Given the description of an element on the screen output the (x, y) to click on. 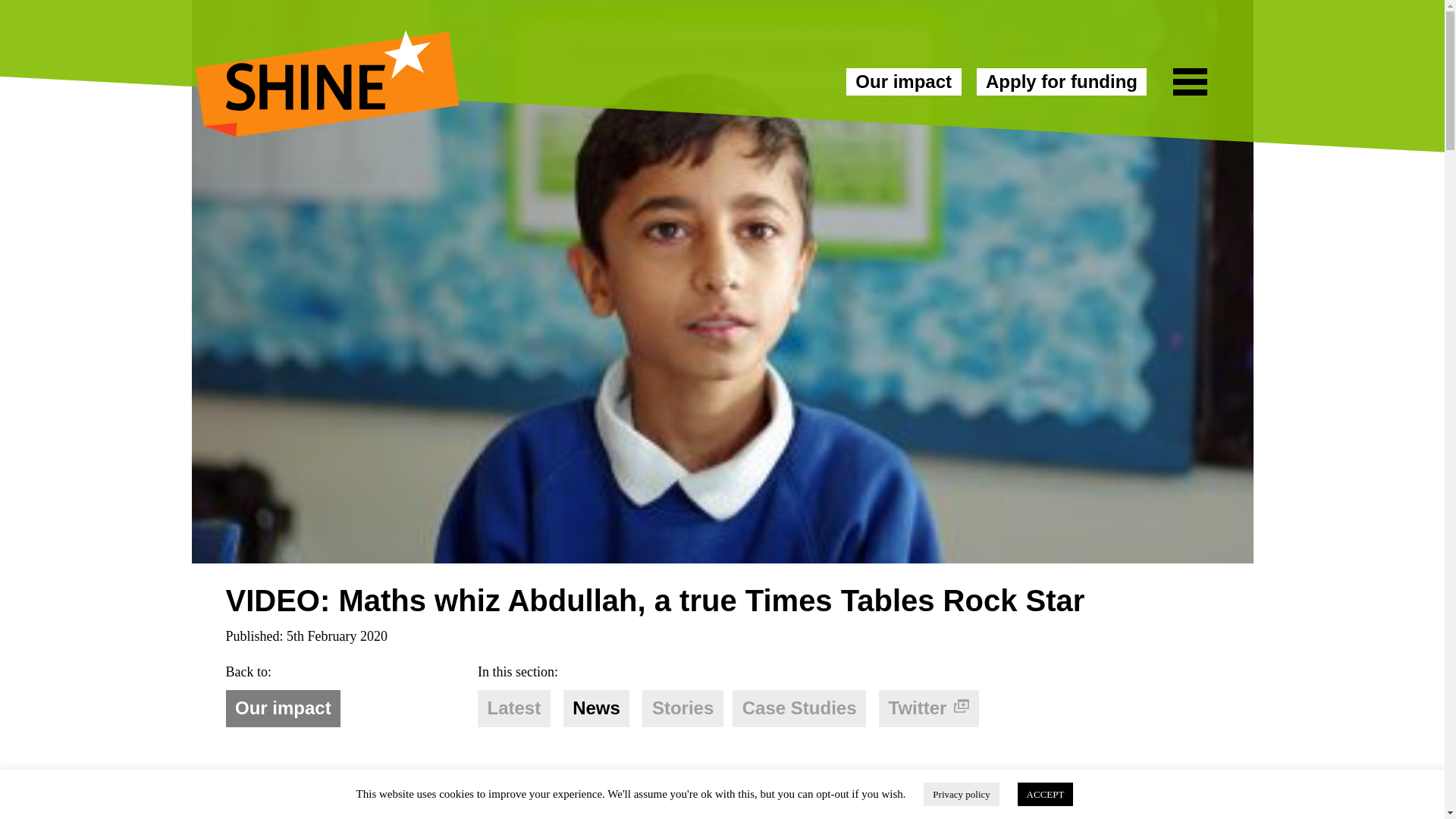
Case Studies (799, 708)
News (596, 708)
Our impact (902, 81)
Latest (513, 708)
Twitter (928, 708)
Our impact (902, 81)
Apply for funding (1061, 81)
Our impact (282, 708)
Apply for funding (1061, 81)
Stories (682, 708)
Go to SHINE Homepage (327, 64)
